Given the description of an element on the screen output the (x, y) to click on. 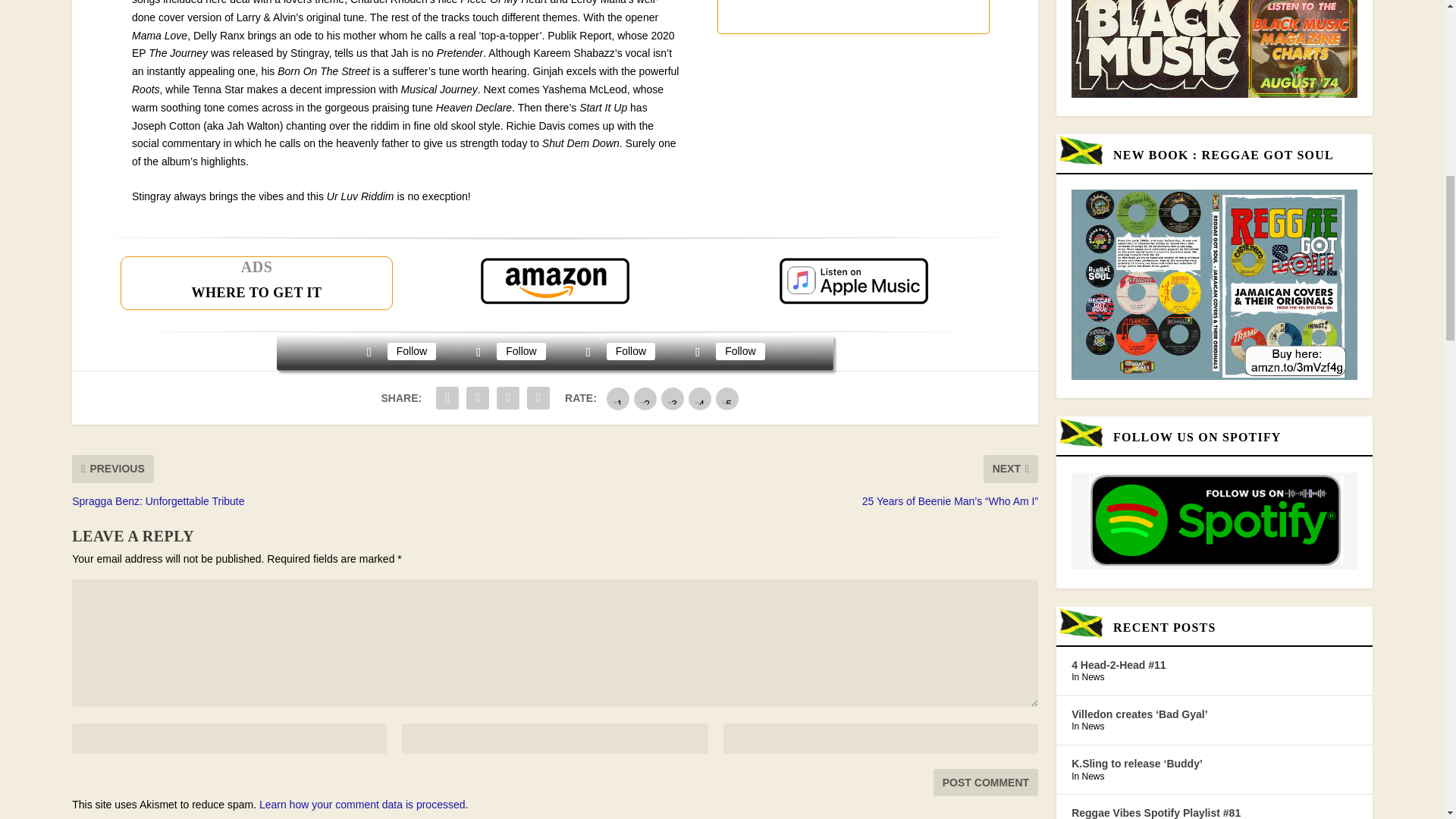
Follow on Twitter (477, 352)
Follow on Instagram (587, 352)
Facebook (411, 351)
Instagram (631, 351)
Follow on Youtube (697, 352)
Post Comment (985, 782)
YouTube video player (852, 16)
Twitter (520, 351)
Follow on Facebook (368, 352)
